Given the description of an element on the screen output the (x, y) to click on. 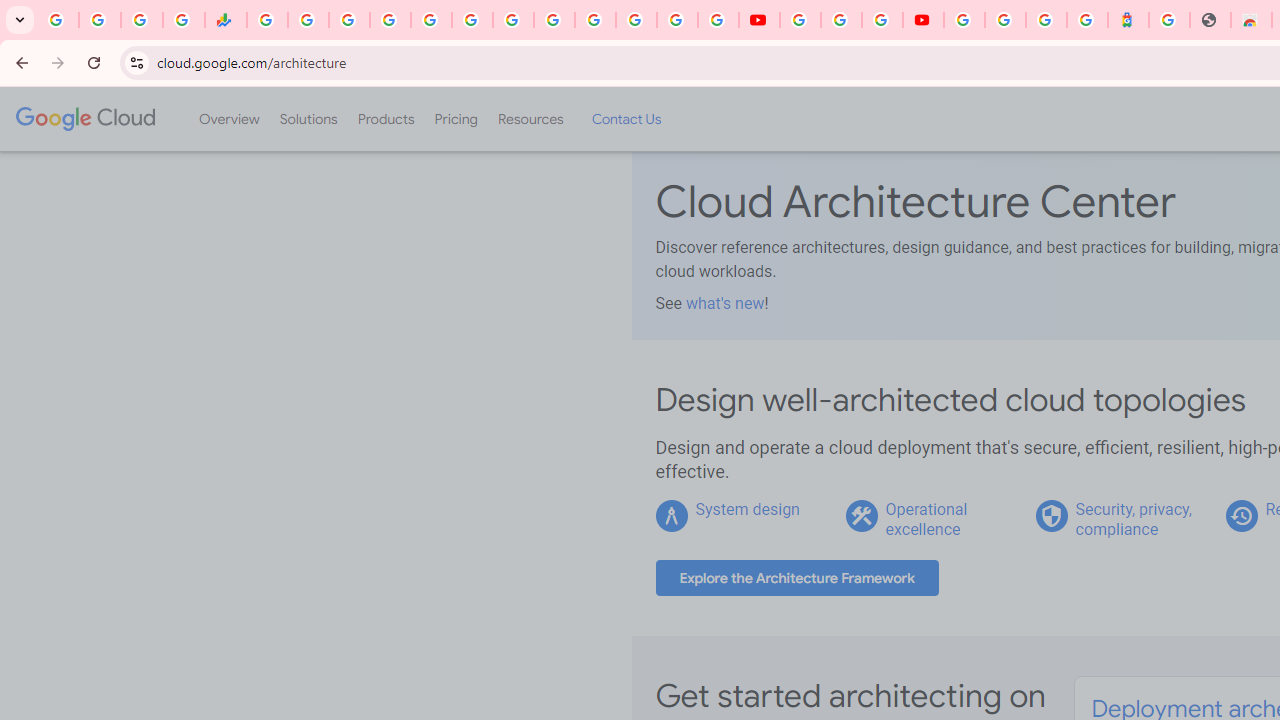
Resources (530, 119)
